Given the description of an element on the screen output the (x, y) to click on. 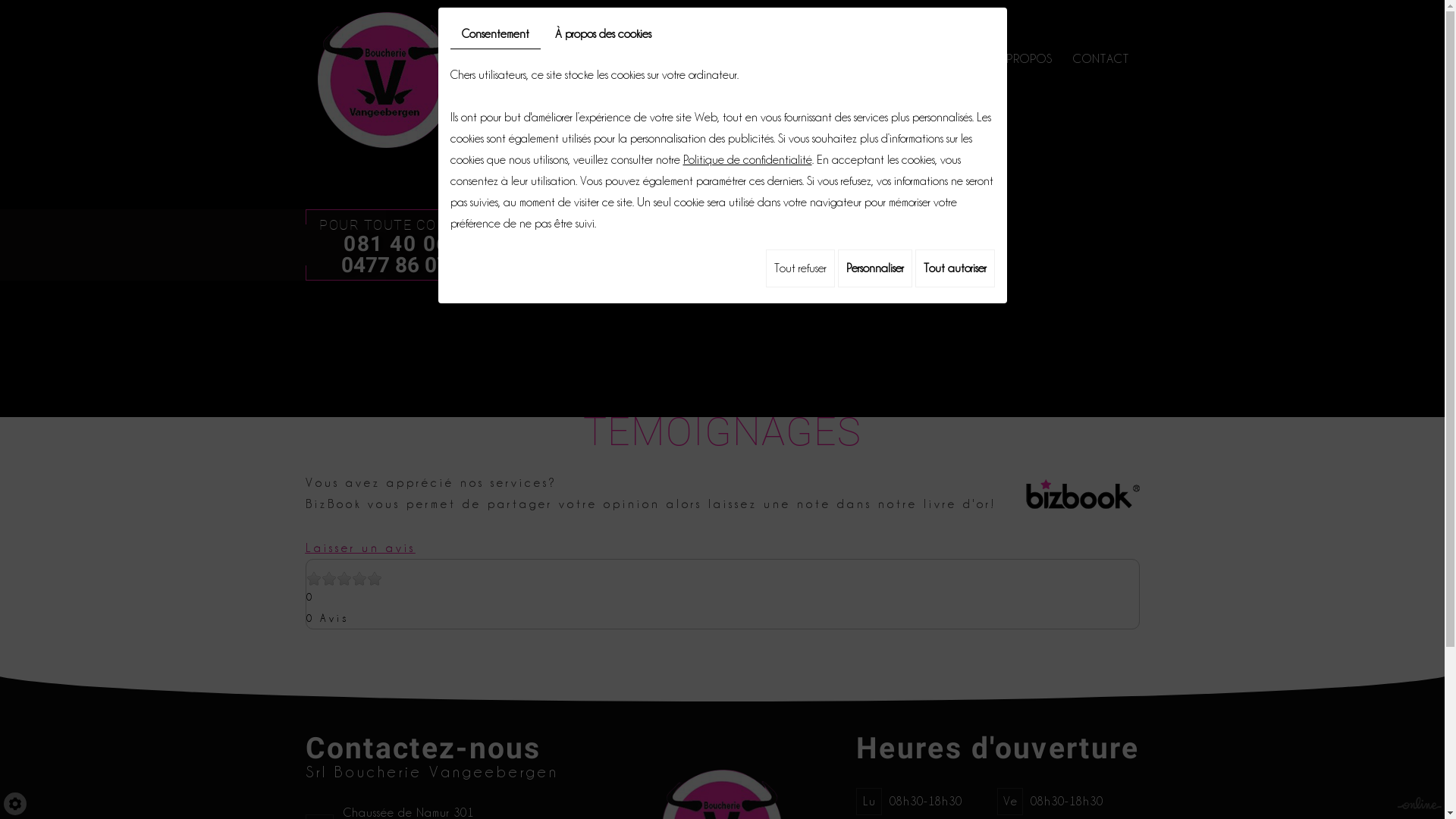
CONTACT Element type: text (1101, 58)
BOUCHERIE Element type: text (664, 58)
Personnaliser Element type: text (874, 268)
Tout refuser Element type: text (799, 268)
Laisser un avis Element type: text (359, 547)
CHARCUTERIE / FROMAGE Element type: text (792, 58)
Boucherie Vangeebergen Element type: hover (384, 78)
081 40 06 16 Element type: text (412, 243)
0477 86 07 92 Element type: text (409, 264)
Consentement Element type: text (495, 34)
Tout autoriser Element type: text (954, 268)
PLATS TRAITEUR Element type: text (930, 58)
ACCUEIL Element type: text (585, 58)
